Given the description of an element on the screen output the (x, y) to click on. 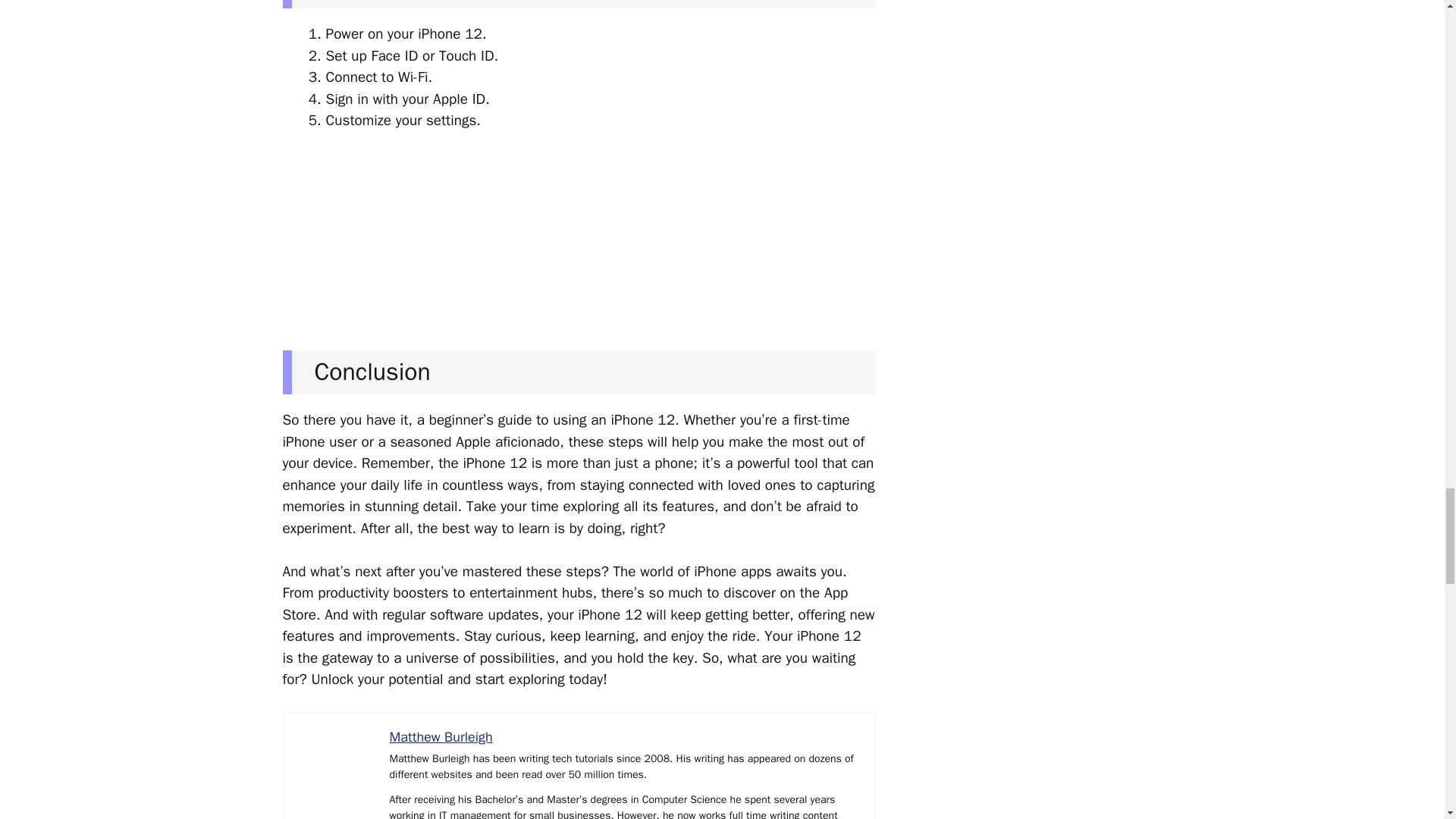
Matthew Burleigh (441, 736)
